Given the description of an element on the screen output the (x, y) to click on. 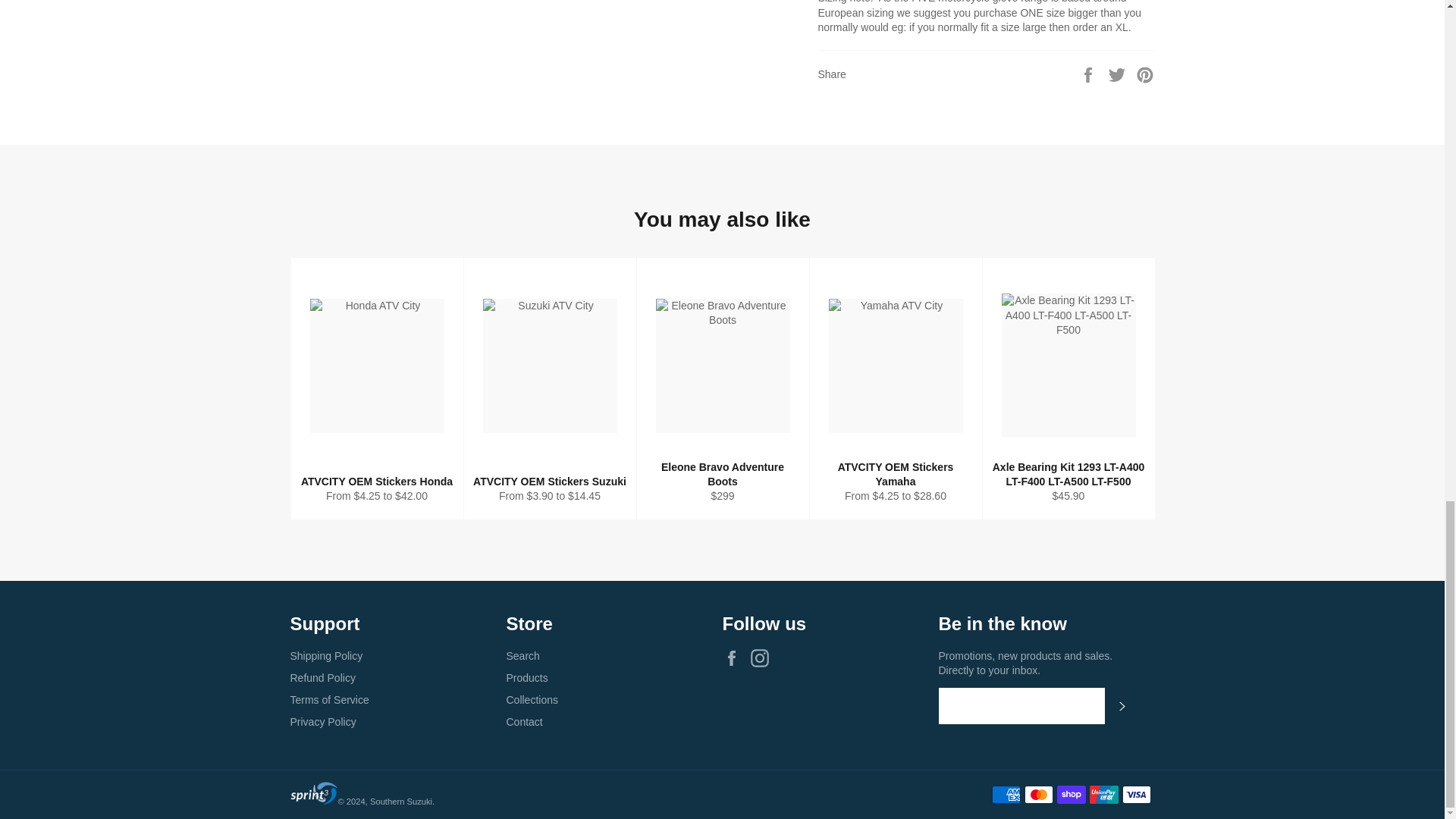
Southern Suzuki on Facebook (735, 658)
Pin on Pinterest (1144, 73)
Share on Facebook (1089, 73)
My image (313, 793)
Southern Suzuki on Instagram (763, 658)
Tweet on Twitter (1118, 73)
